Given the description of an element on the screen output the (x, y) to click on. 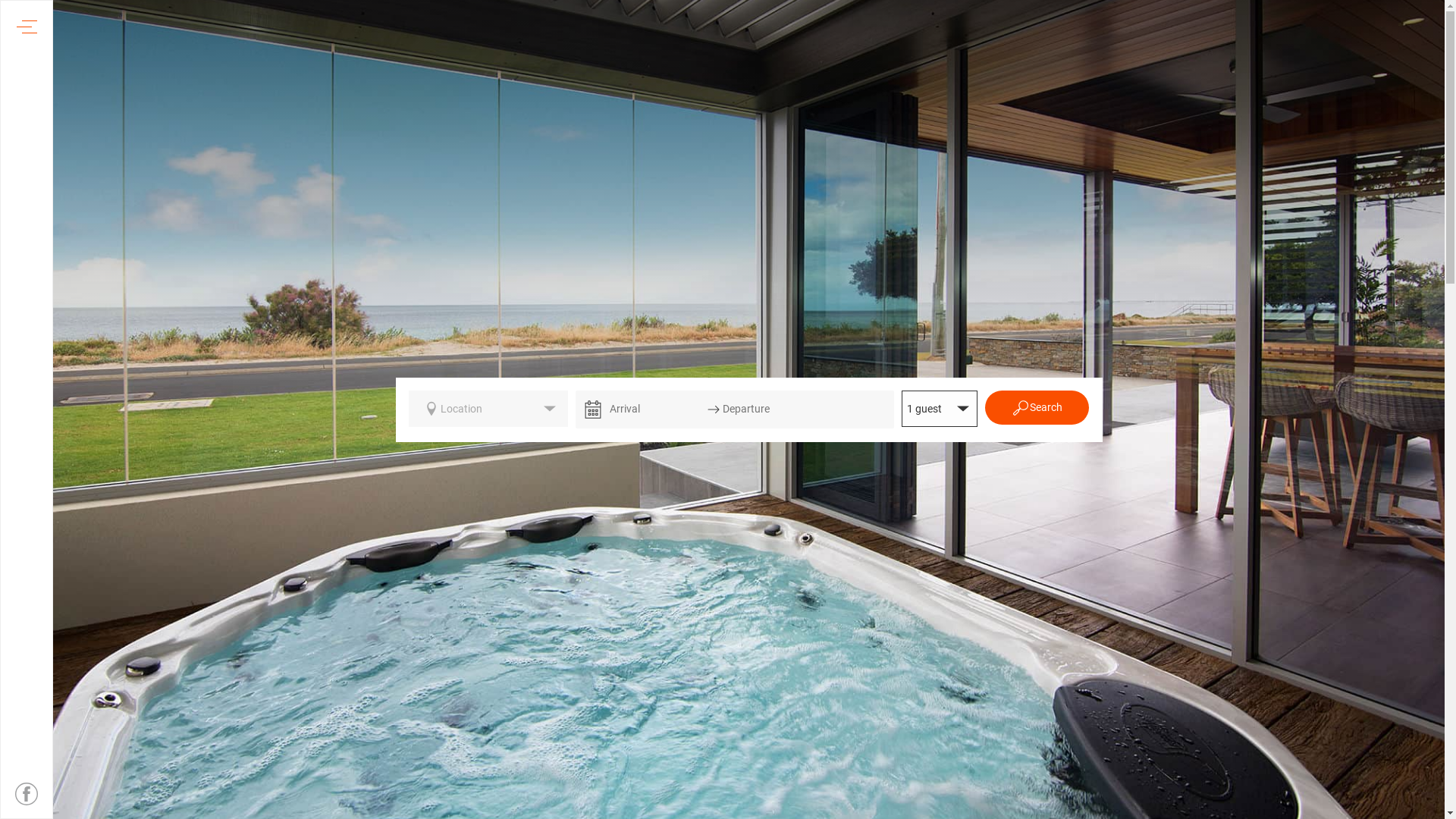
1 guest Element type: text (939, 408)
Location Element type: text (487, 408)
Search Element type: text (1036, 407)
